Given the description of an element on the screen output the (x, y) to click on. 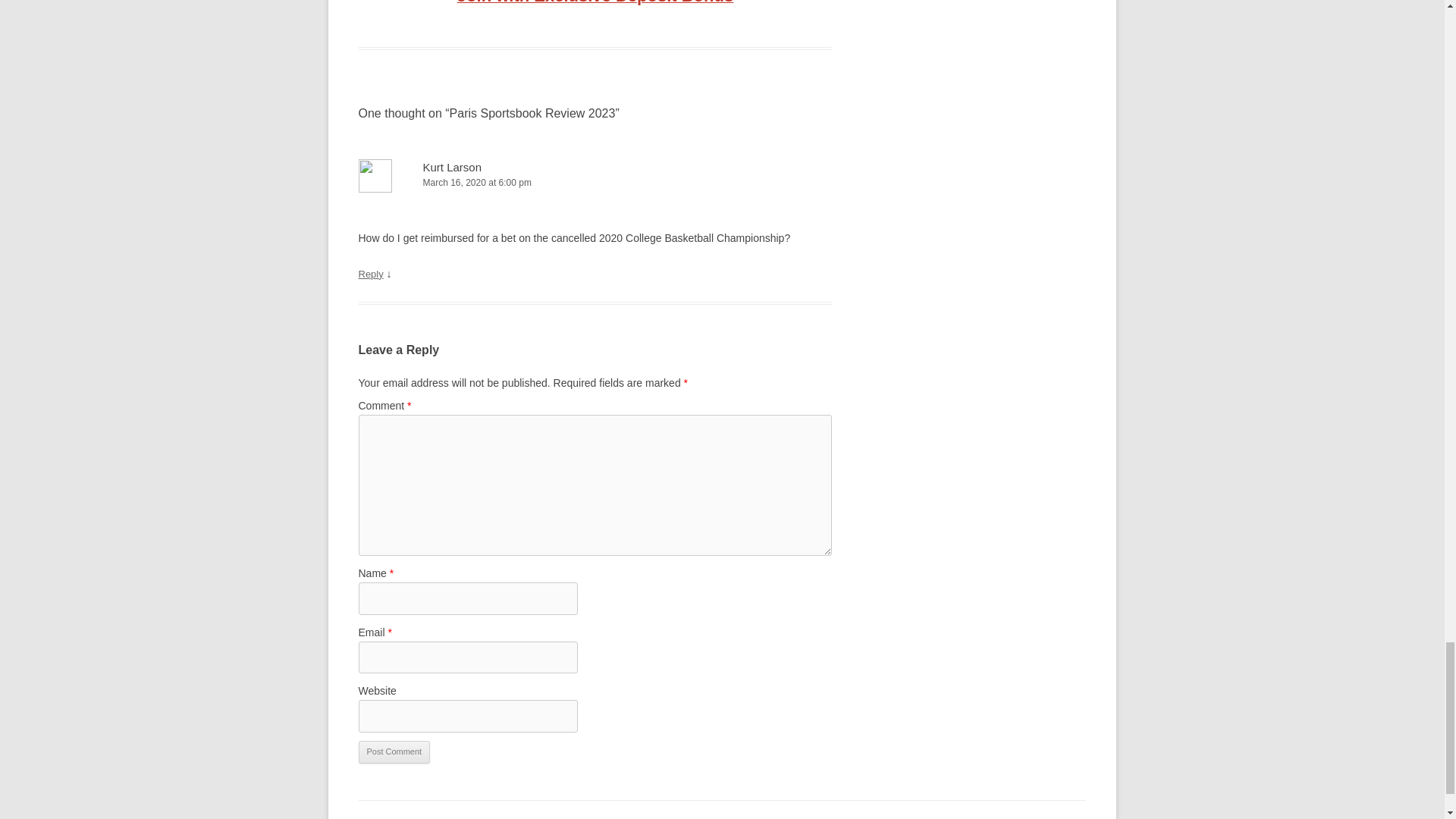
Join with Exclusive Deposit Bonus (595, 2)
Post Comment (393, 752)
Reply (370, 274)
March 16, 2020 at 6:00 pm (594, 182)
Post Comment (393, 752)
